Given the description of an element on the screen output the (x, y) to click on. 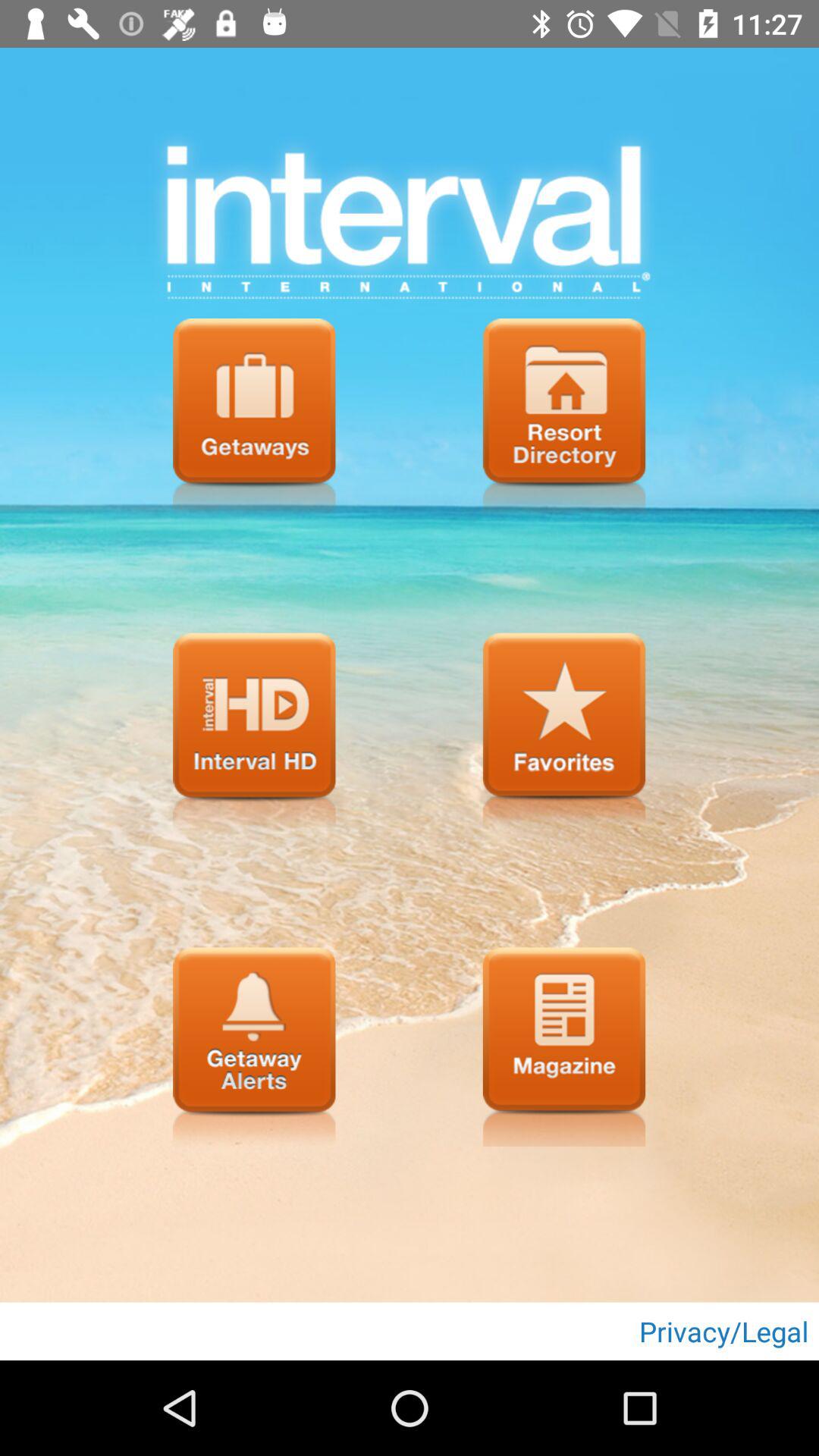
favorite button (563, 732)
